Given the description of an element on the screen output the (x, y) to click on. 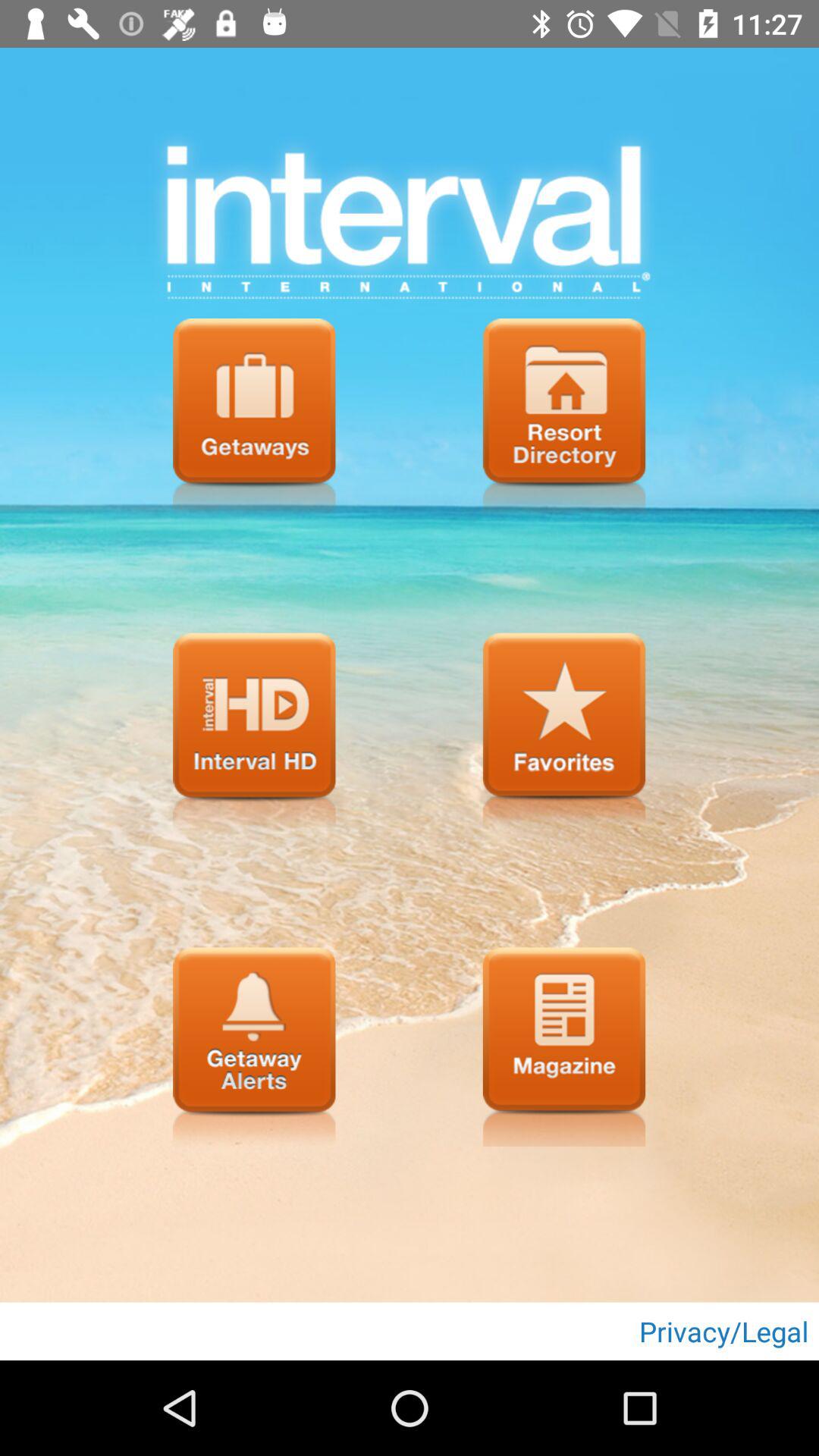
favorite button (563, 732)
